Given the description of an element on the screen output the (x, y) to click on. 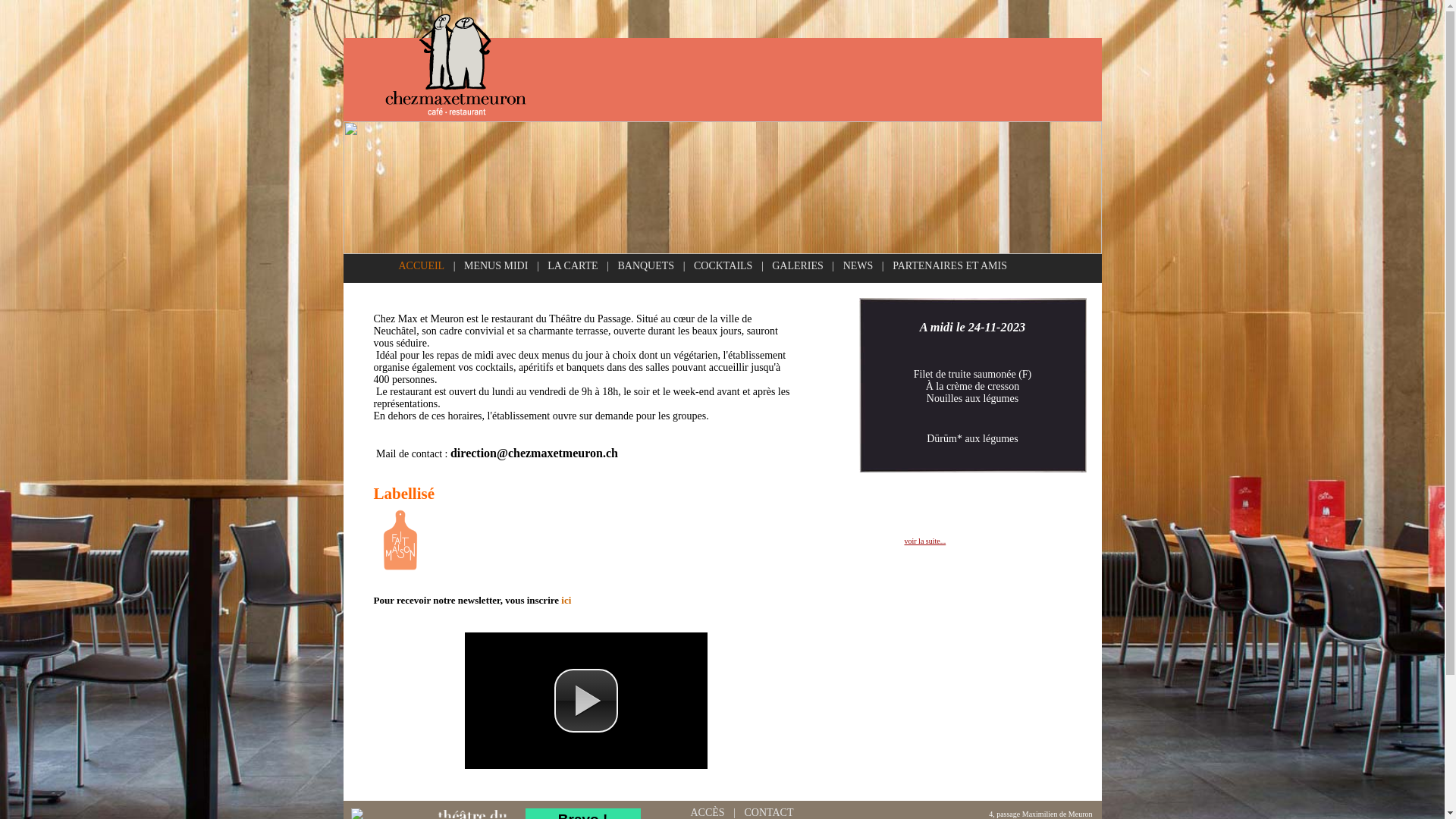
COCKTAILS Element type: text (722, 265)
CONTACT Element type: text (768, 811)
  Element type: text (572, 599)
NEWS Element type: text (858, 265)
ACCUEIL Element type: text (421, 265)
BANQUETS Element type: text (645, 265)
PARTENAIRES ET AMIS Element type: text (949, 265)
ici Element type: text (566, 599)
voir la suite... Element type: text (924, 540)
MENUS MIDI Element type: text (495, 265)
GALERIES Element type: text (797, 265)
LA CARTE Element type: text (572, 265)
